Given the description of an element on the screen output the (x, y) to click on. 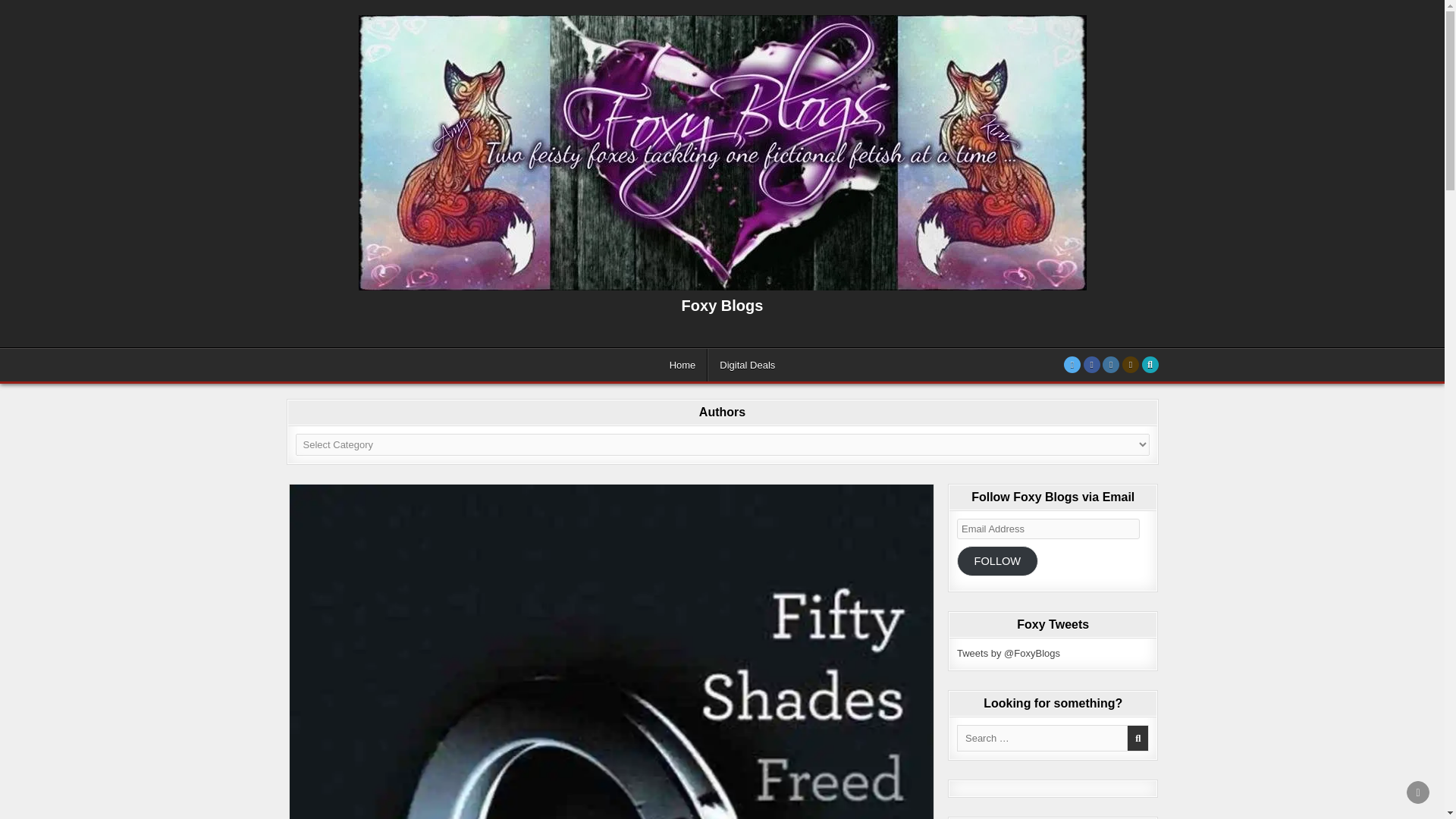
Home (682, 364)
Foxy Blogs (721, 305)
SCROLL TO TOP (1417, 792)
Digital Deals (746, 364)
